Given the description of an element on the screen output the (x, y) to click on. 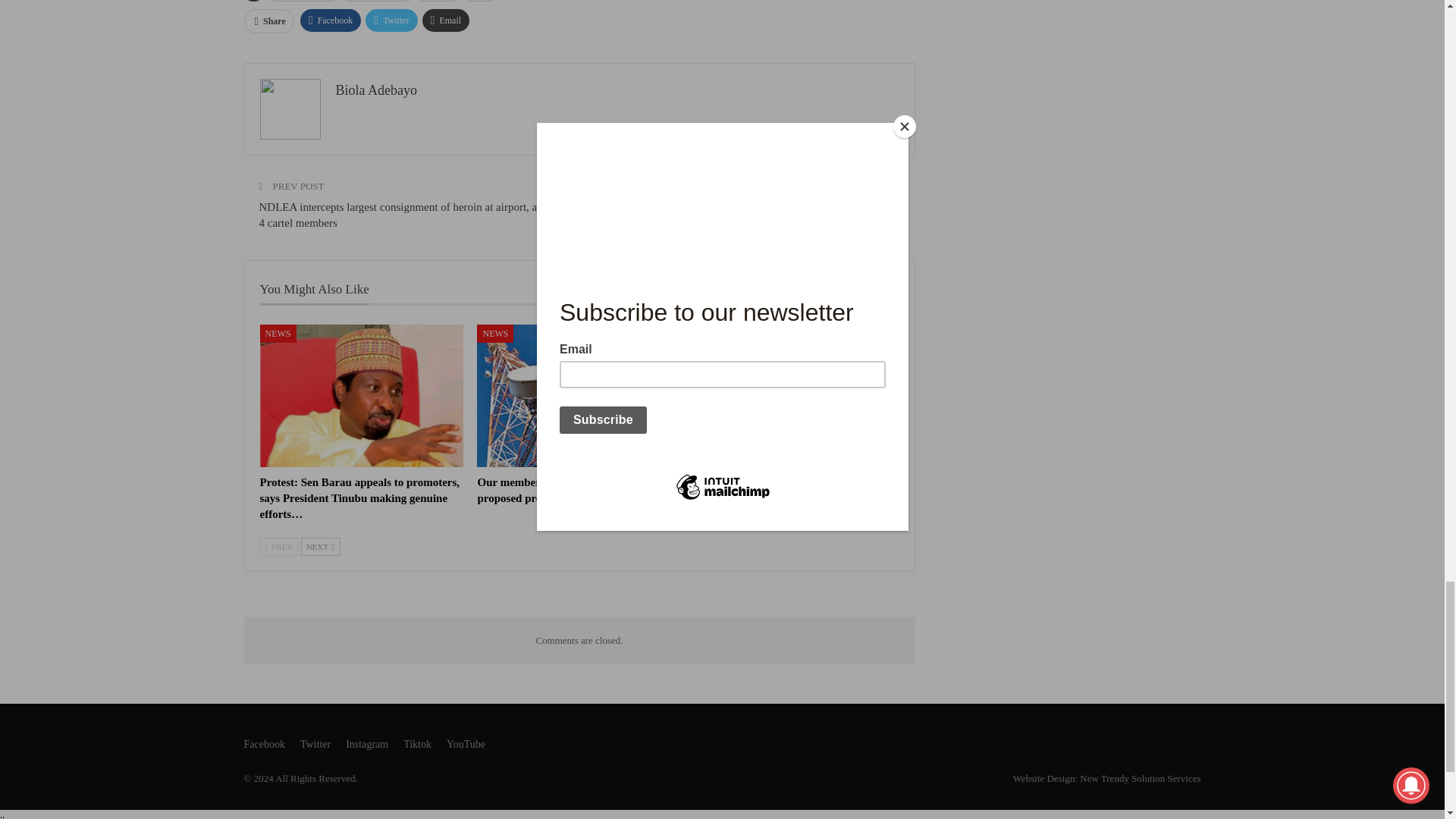
Previous (278, 546)
